Given the description of an element on the screen output the (x, y) to click on. 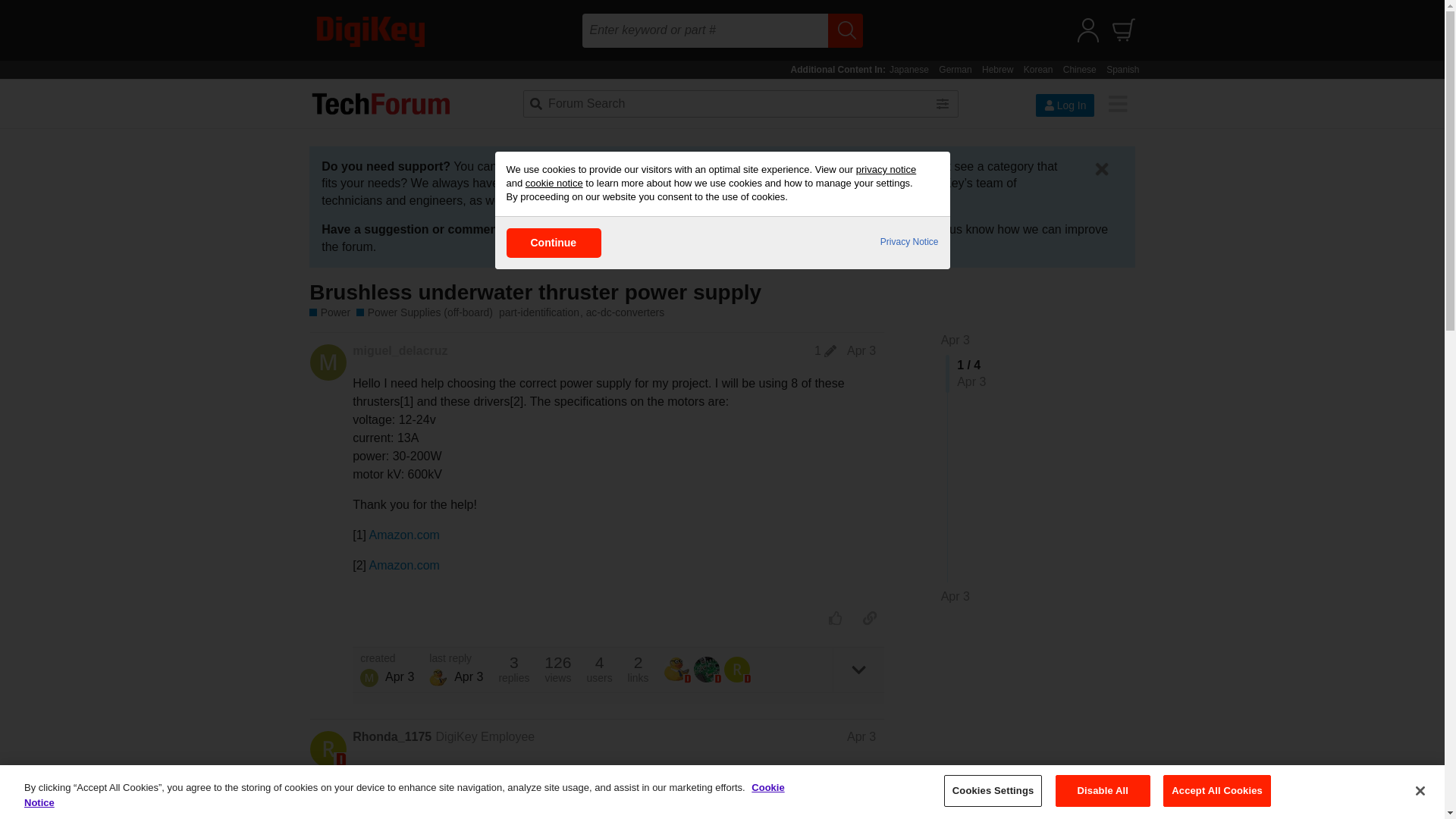
ac-dc-converters (625, 312)
Jump to the first post (954, 339)
menu (1117, 103)
Apr 3 (954, 596)
post last edited on Apr 12, 2024 4:22 am (825, 350)
Site Help, Information and Feedback (758, 228)
Power-related product support, FAQS, and more. (329, 312)
German (955, 69)
Dismiss this banner (1101, 168)
expand topic details (857, 669)
copy a link to this post to clipboard (869, 617)
part-identification (542, 312)
Continue (554, 243)
like this post (835, 617)
Power (329, 312)
